Given the description of an element on the screen output the (x, y) to click on. 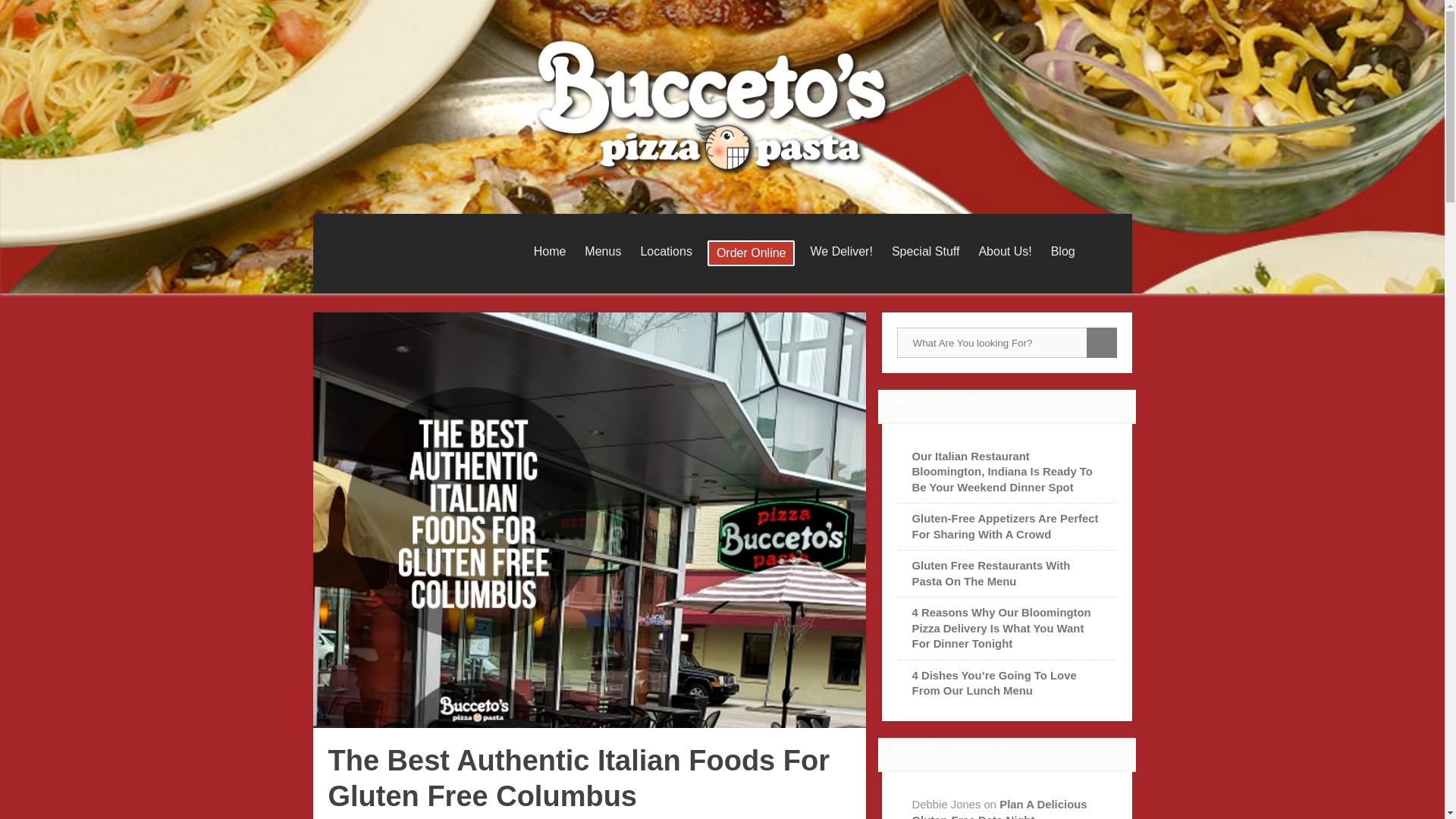
Order Online (750, 253)
Gluten Free Restaurants With Pasta On The Menu (991, 573)
We Deliver! (840, 251)
Plan A Delicious Gluten-Free Date Night (999, 808)
Gluten-Free Appetizers Are Perfect For Sharing With A Crowd (1005, 525)
Locations (665, 251)
Blog (1063, 251)
Special Stuff (925, 251)
About Us! (1005, 251)
Menus (602, 251)
Home (549, 251)
